Given the description of an element on the screen output the (x, y) to click on. 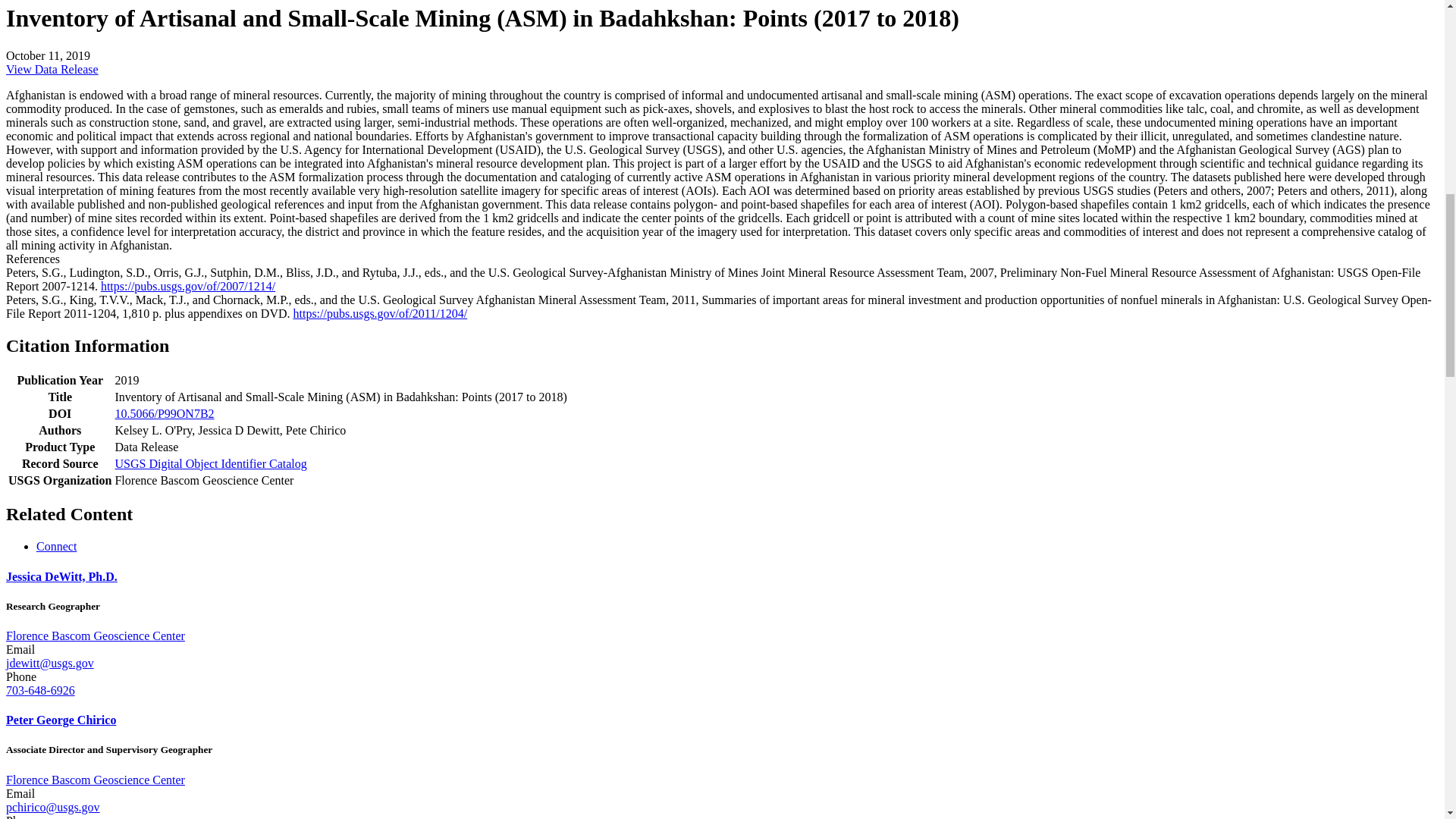
View Data Release (52, 69)
